Given the description of an element on the screen output the (x, y) to click on. 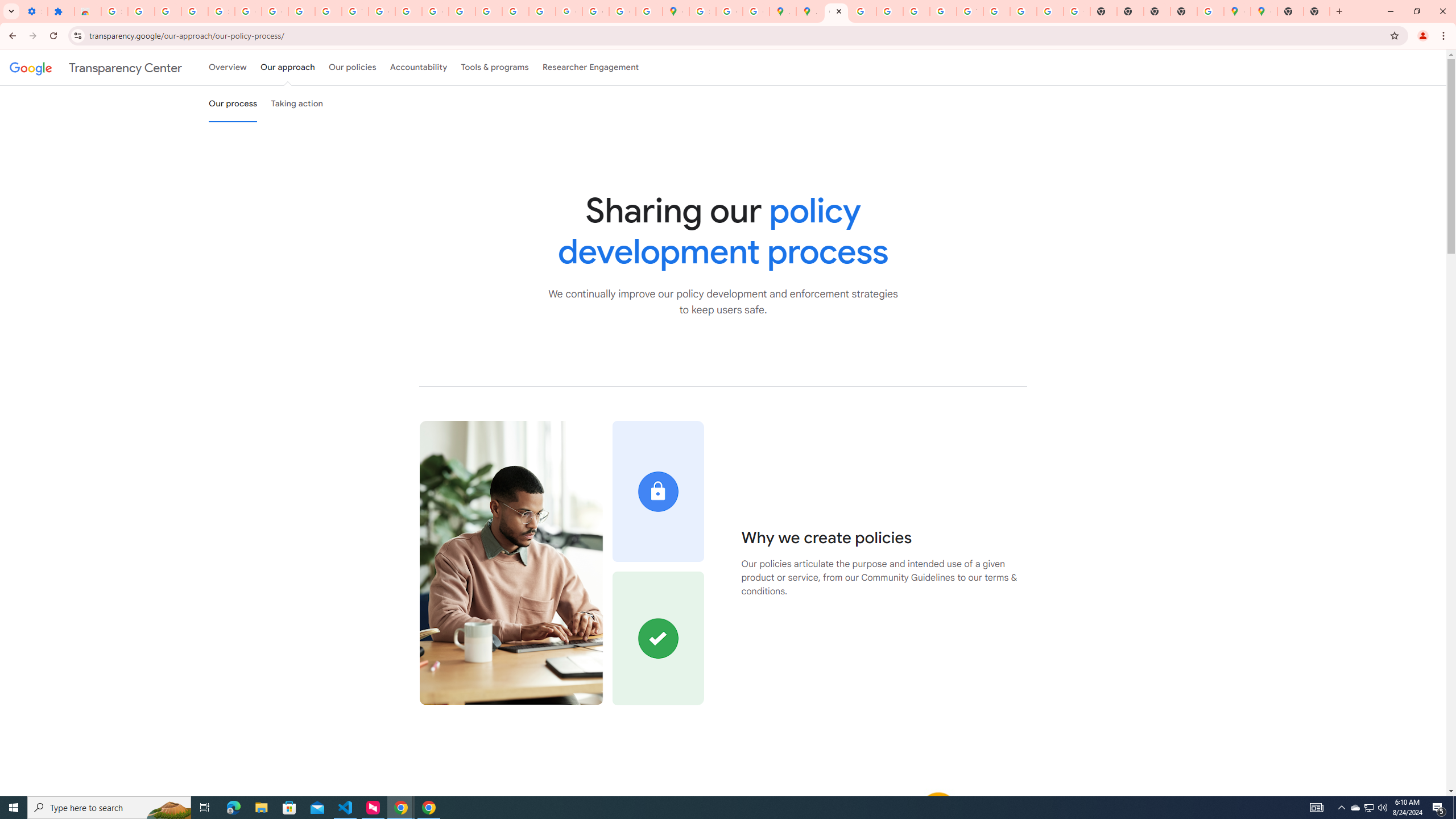
New Tab (1290, 11)
Accountability (418, 67)
Google Account Help (275, 11)
Google Maps (1263, 11)
Settings - On startup (34, 11)
